Given the description of an element on the screen output the (x, y) to click on. 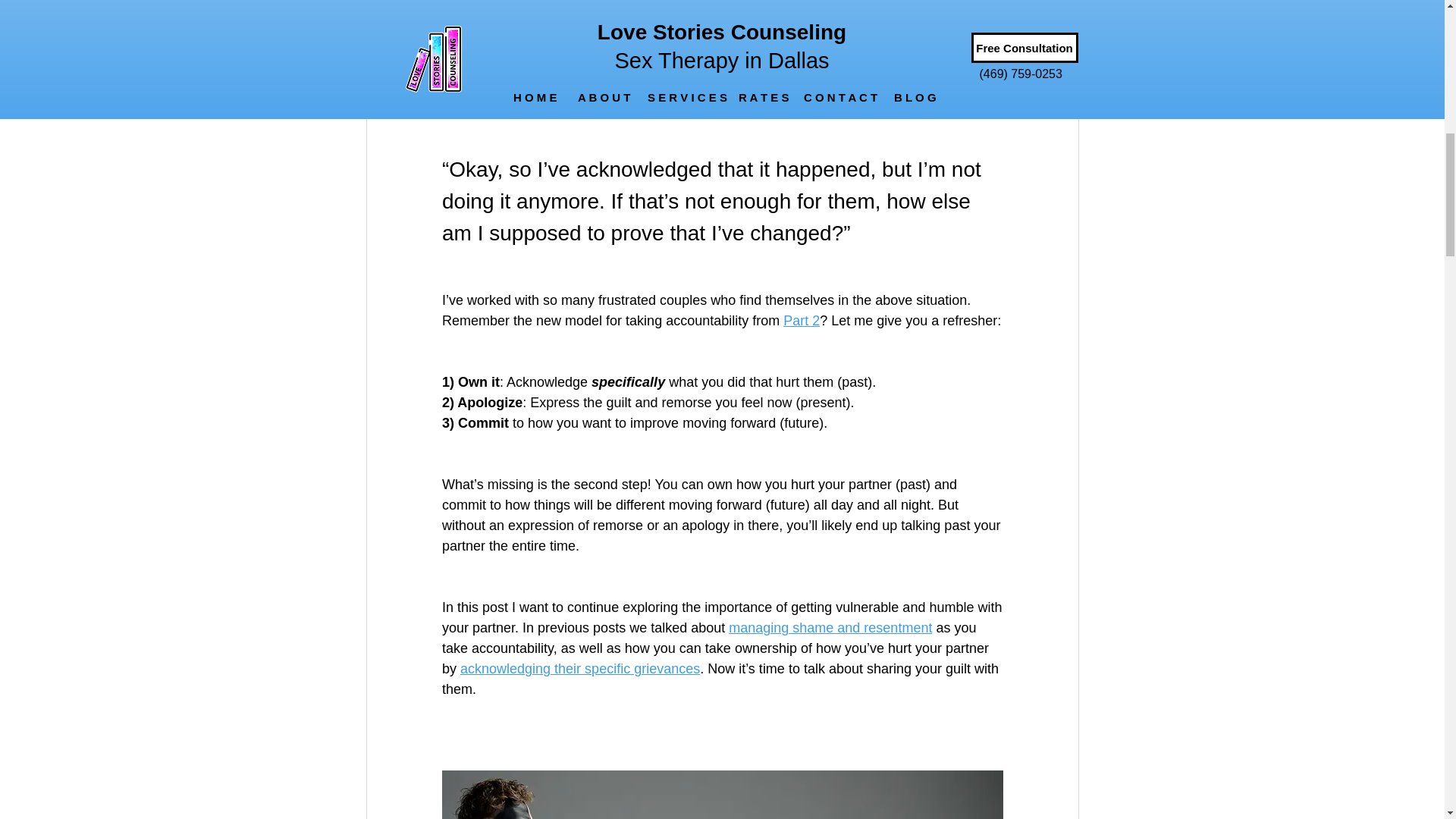
acknowledging their specific grievances (580, 668)
Part 2 (801, 320)
managing shame and resentment (830, 627)
